Given the description of an element on the screen output the (x, y) to click on. 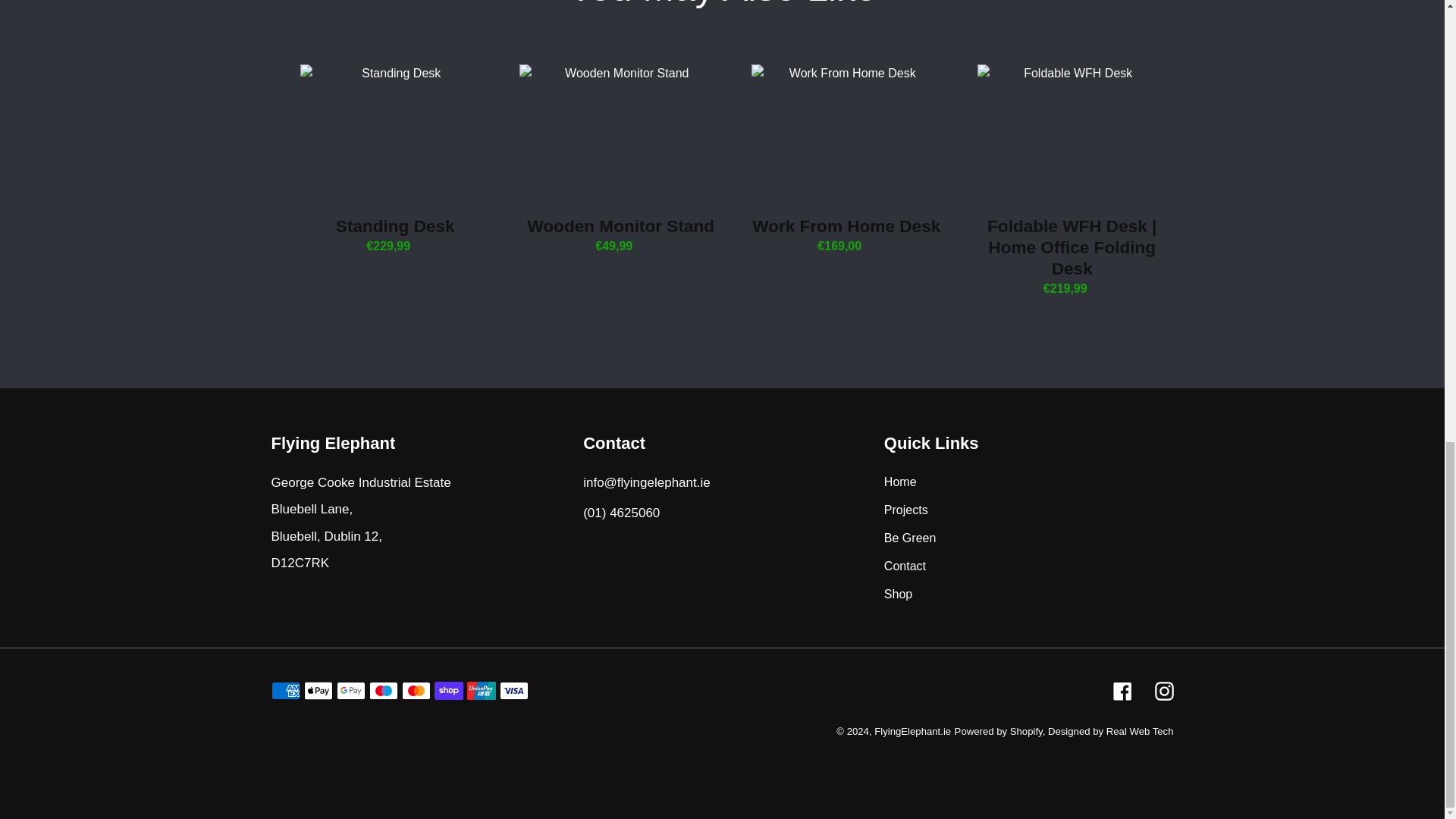
Standing Desk (395, 159)
Work From Home Desk (845, 159)
tel:14625060 (646, 515)
Wooden Monitor Stand (620, 159)
